Given the description of an element on the screen output the (x, y) to click on. 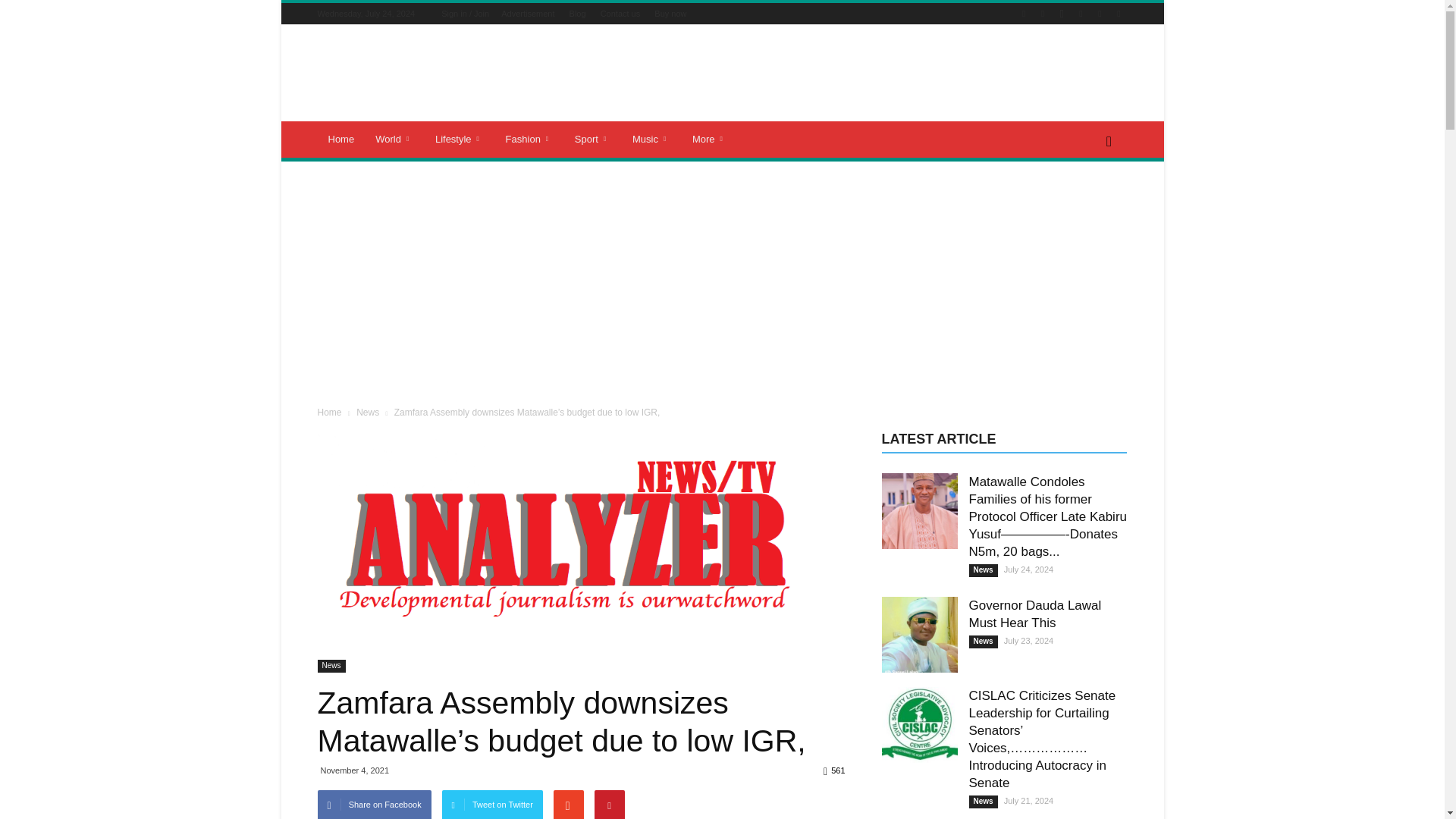
Advertisement (527, 13)
Vimeo (1099, 13)
Home (341, 139)
Behance (1023, 13)
Blog (577, 13)
Instagram (1061, 13)
Twitter (1080, 13)
View all posts in News (368, 412)
Buy now (669, 13)
VKontakte (1117, 13)
Contact us (619, 13)
Facebook (1042, 13)
